Given the description of an element on the screen output the (x, y) to click on. 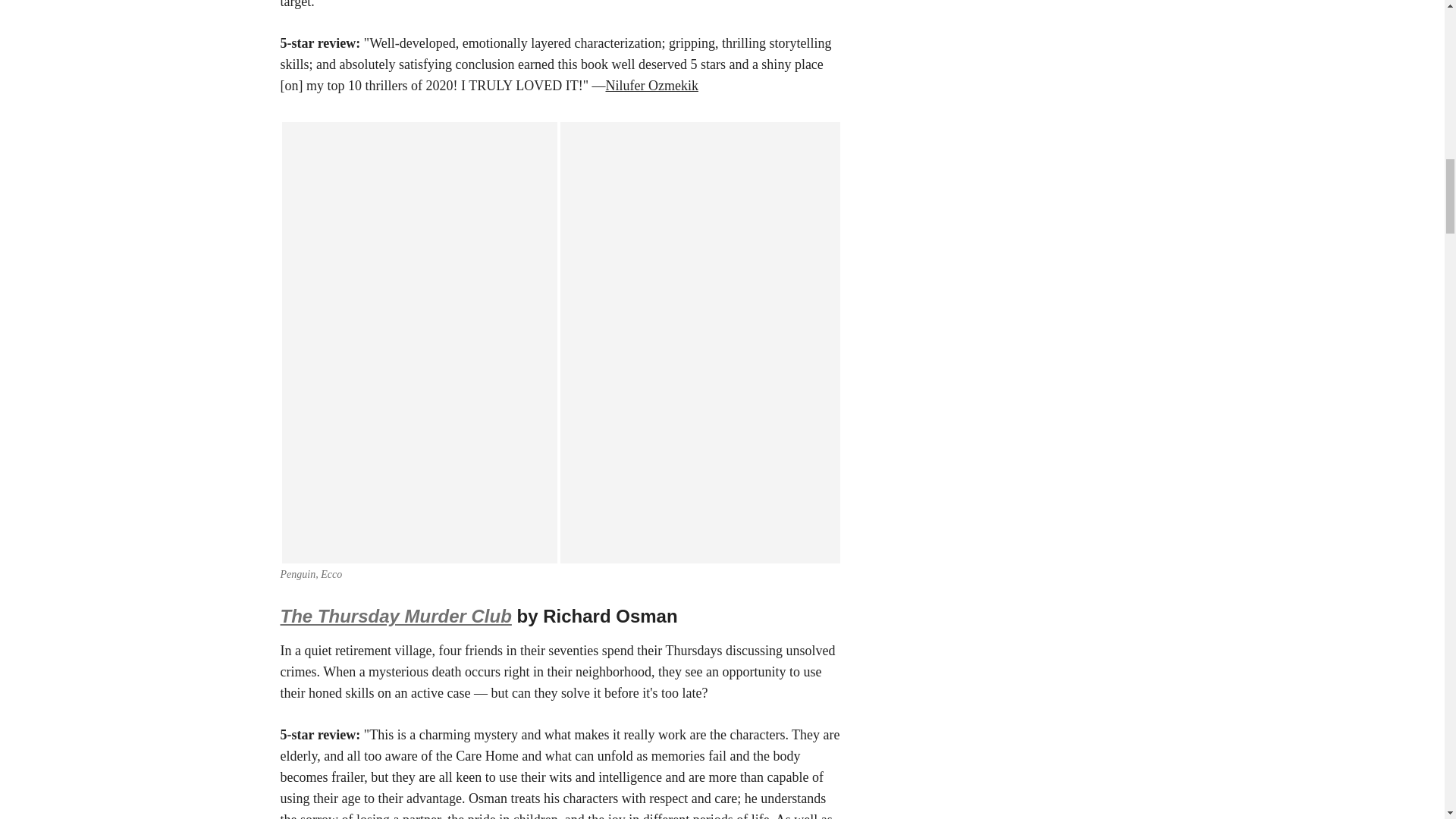
Nilufer Ozmekik (651, 85)
The Thursday Murder Club (396, 616)
